Given the description of an element on the screen output the (x, y) to click on. 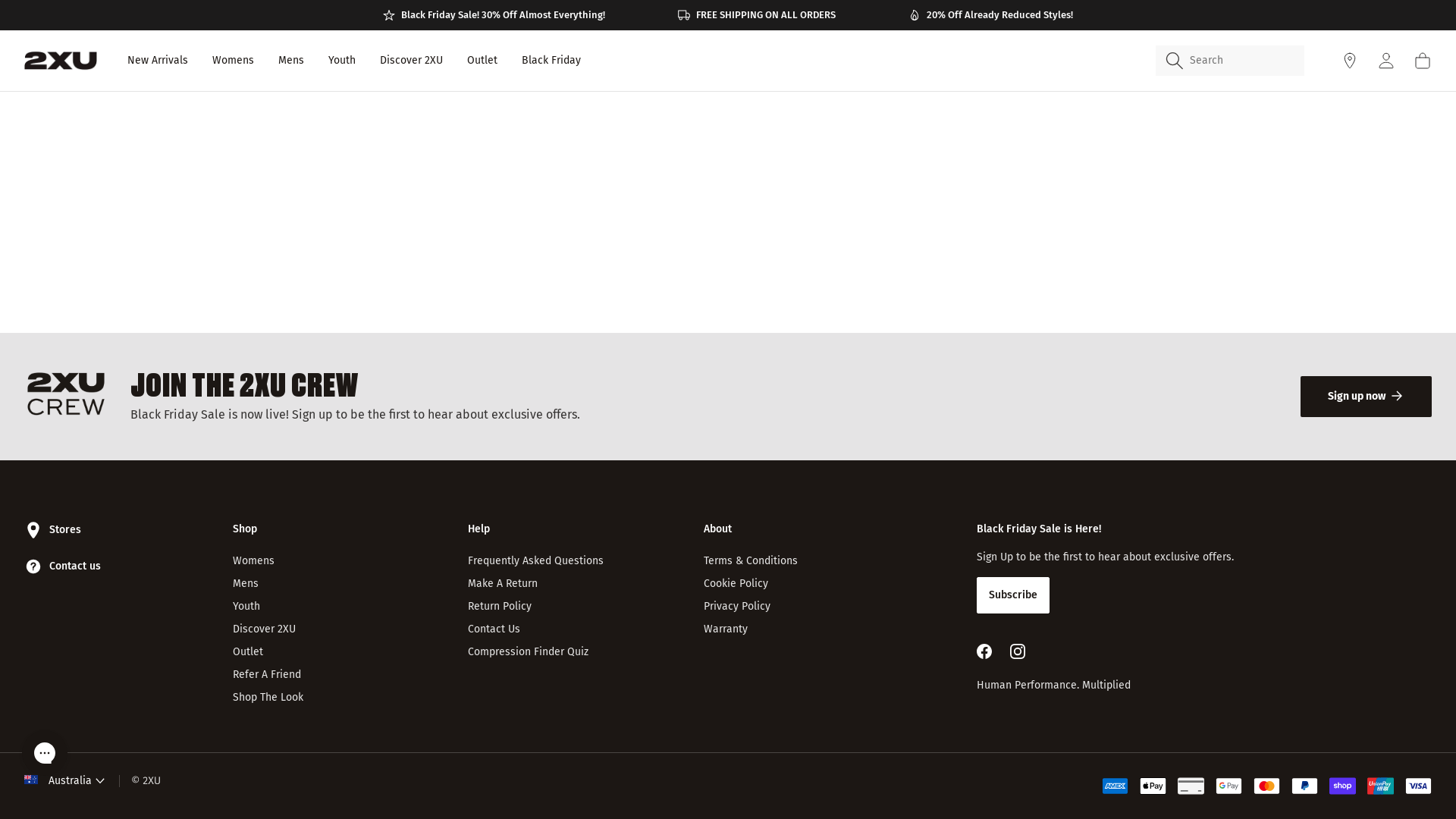
Contact us Element type: text (62, 566)
Facebook Element type: text (983, 650)
Outlet Element type: text (482, 60)
Black Friday Sale! 30% Off Almost Everything! Element type: text (493, 14)
Frequently Asked Questions Element type: text (535, 560)
Cookie Policy Element type: text (735, 583)
Make A Return Element type: text (502, 583)
Youth Element type: text (246, 606)
Cart Element type: text (1422, 60)
Gorgias live chat messenger Element type: hover (44, 752)
Return Policy Element type: text (499, 606)
Refer A Friend Element type: text (266, 674)
20% Off Already Reduced Styles! Element type: text (990, 14)
Compression Finder Quiz Element type: text (527, 651)
Mens Element type: text (291, 60)
Australia Element type: text (64, 780)
Instagram Element type: text (1017, 650)
Womens Element type: text (253, 560)
Womens Element type: text (233, 60)
Subscribe Element type: text (1012, 595)
Discover 2XU Element type: text (411, 60)
Black Friday Element type: text (551, 60)
Outlet Element type: text (247, 651)
Terms & Conditions Element type: text (750, 560)
Warranty Element type: text (725, 629)
Login Element type: text (1386, 60)
Privacy Policy Element type: text (736, 606)
Shop The Look Element type: text (267, 697)
New Arrivals Element type: text (157, 60)
Youth Element type: text (341, 60)
Mens Element type: text (245, 583)
Discover 2XU Element type: text (263, 629)
Contact Us Element type: text (493, 629)
Sign up now Element type: text (1365, 396)
Stores Element type: text (52, 529)
